Given the description of an element on the screen output the (x, y) to click on. 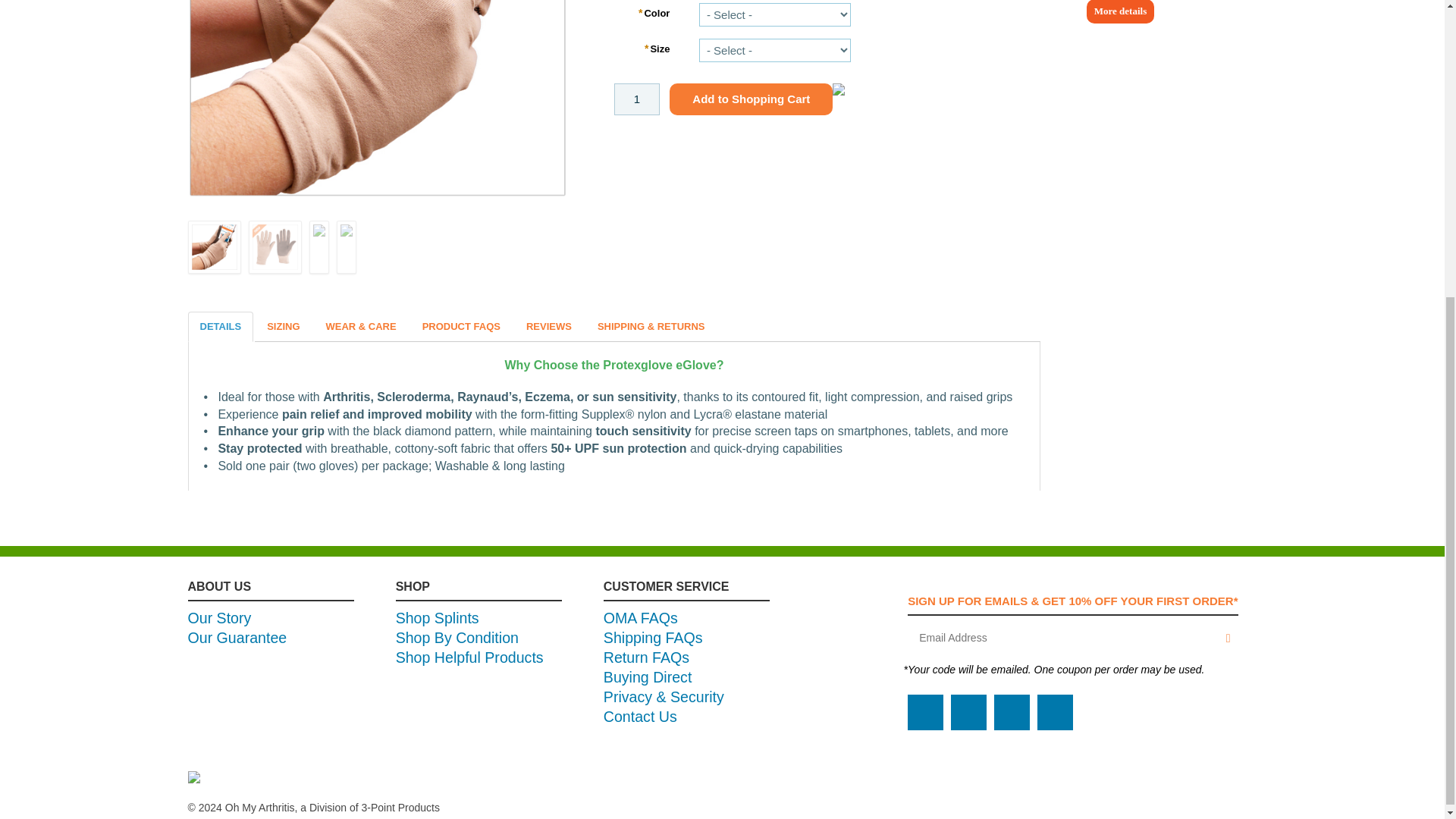
Submit (1224, 638)
1 (636, 98)
Add to Shopping Cart (750, 98)
